Given the description of an element on the screen output the (x, y) to click on. 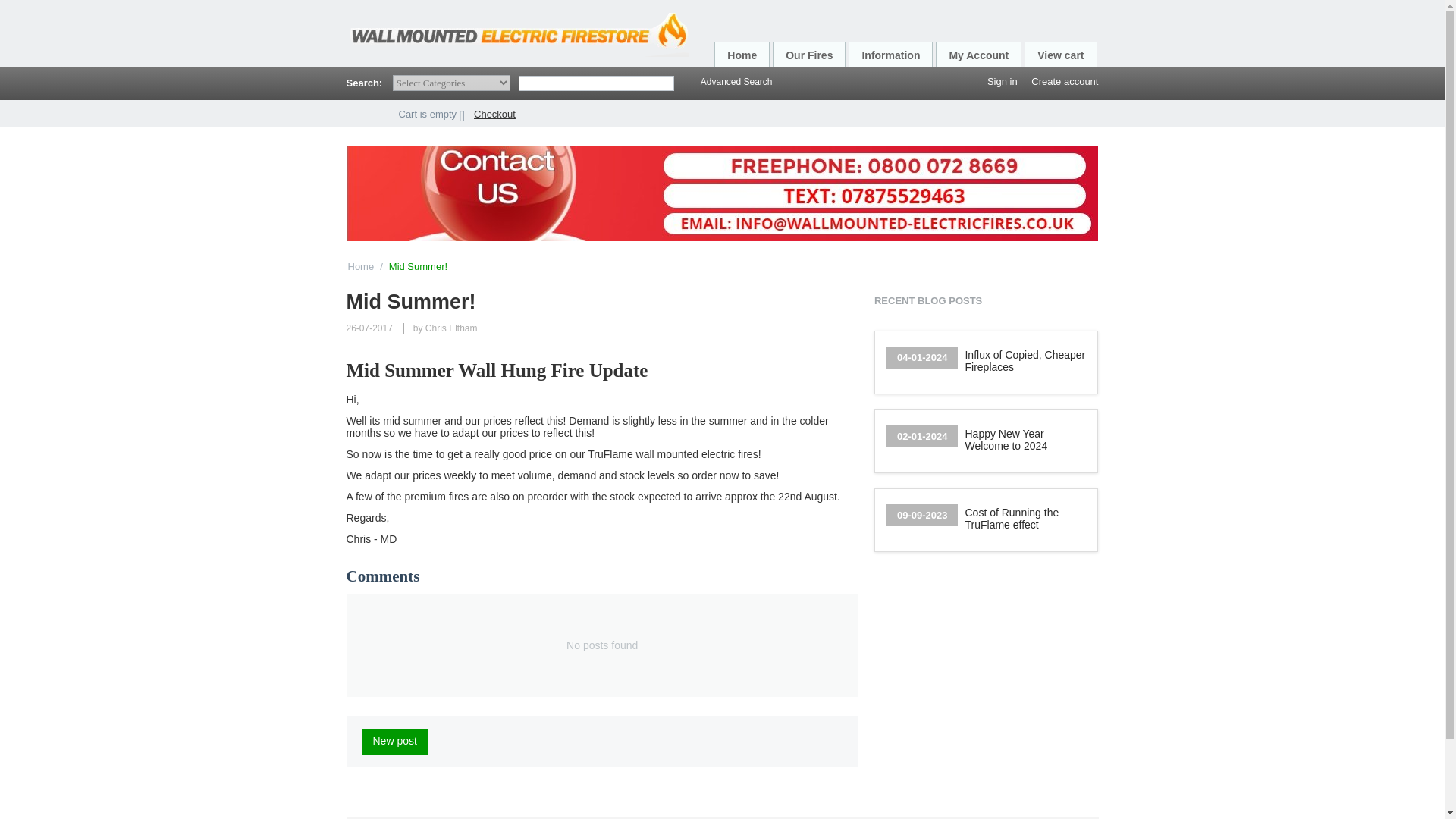
Search products (596, 83)
Home (742, 54)
Wall Mounted Electric Fires, Simbirsk Technologies Ltd (517, 33)
Information (890, 54)
Our Fires (809, 54)
